Given the description of an element on the screen output the (x, y) to click on. 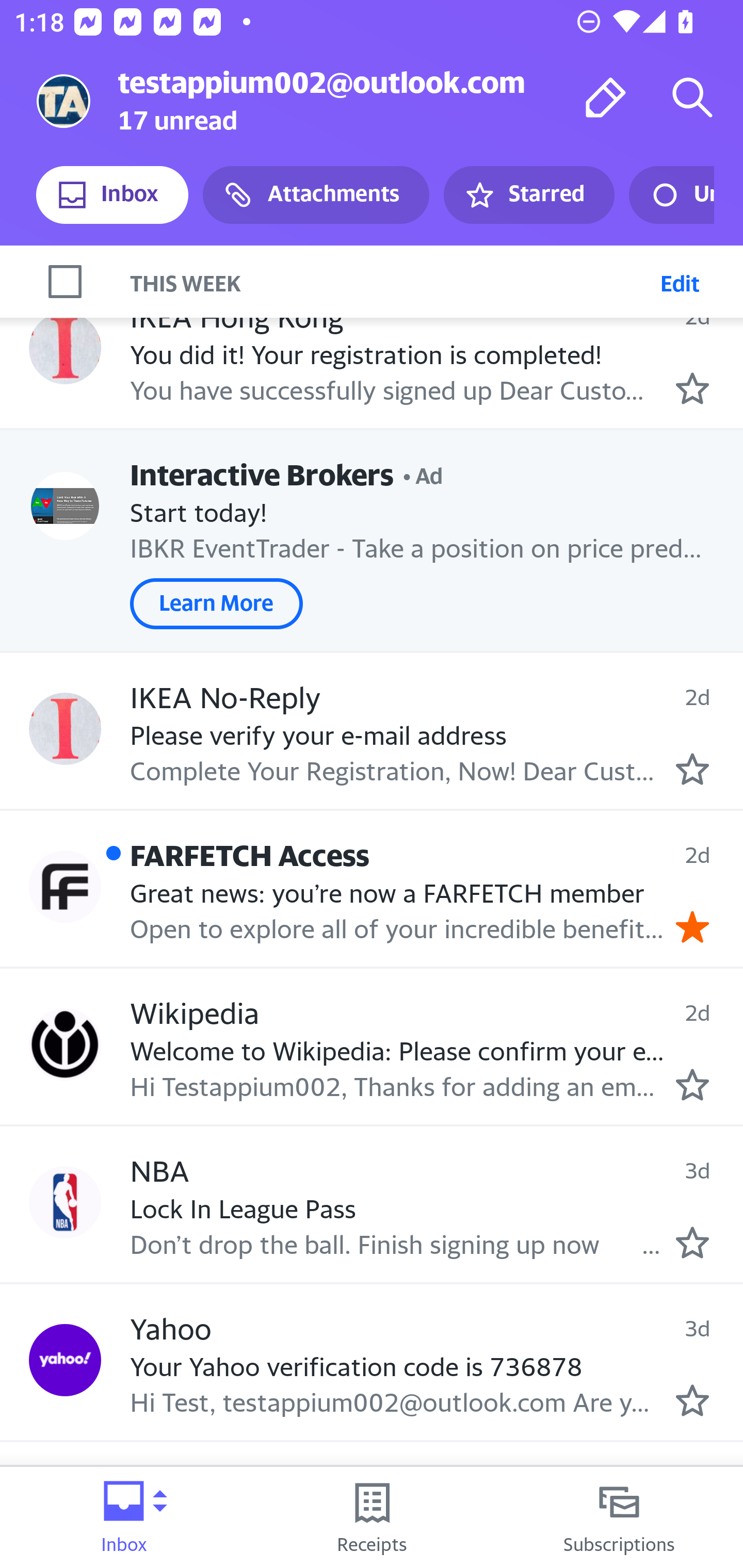
Compose (605, 97)
Search mail (692, 97)
Attachments (315, 195)
Starred (528, 195)
Profile
IKEA Hong Kong (64, 348)
Mark as starred. (692, 388)
Profile
IKEA No-Reply (64, 729)
Mark as starred. (692, 769)
Profile
FARFETCH Access (64, 885)
Remove star. (692, 927)
Profile
Wikipedia (64, 1044)
Mark as starred. (692, 1084)
Profile
NBA (64, 1202)
Mark as starred. (692, 1242)
Profile
Yahoo (64, 1359)
Mark as starred. (692, 1400)
Inbox Folder picker (123, 1517)
Receipts (371, 1517)
Subscriptions (619, 1517)
